Given the description of an element on the screen output the (x, y) to click on. 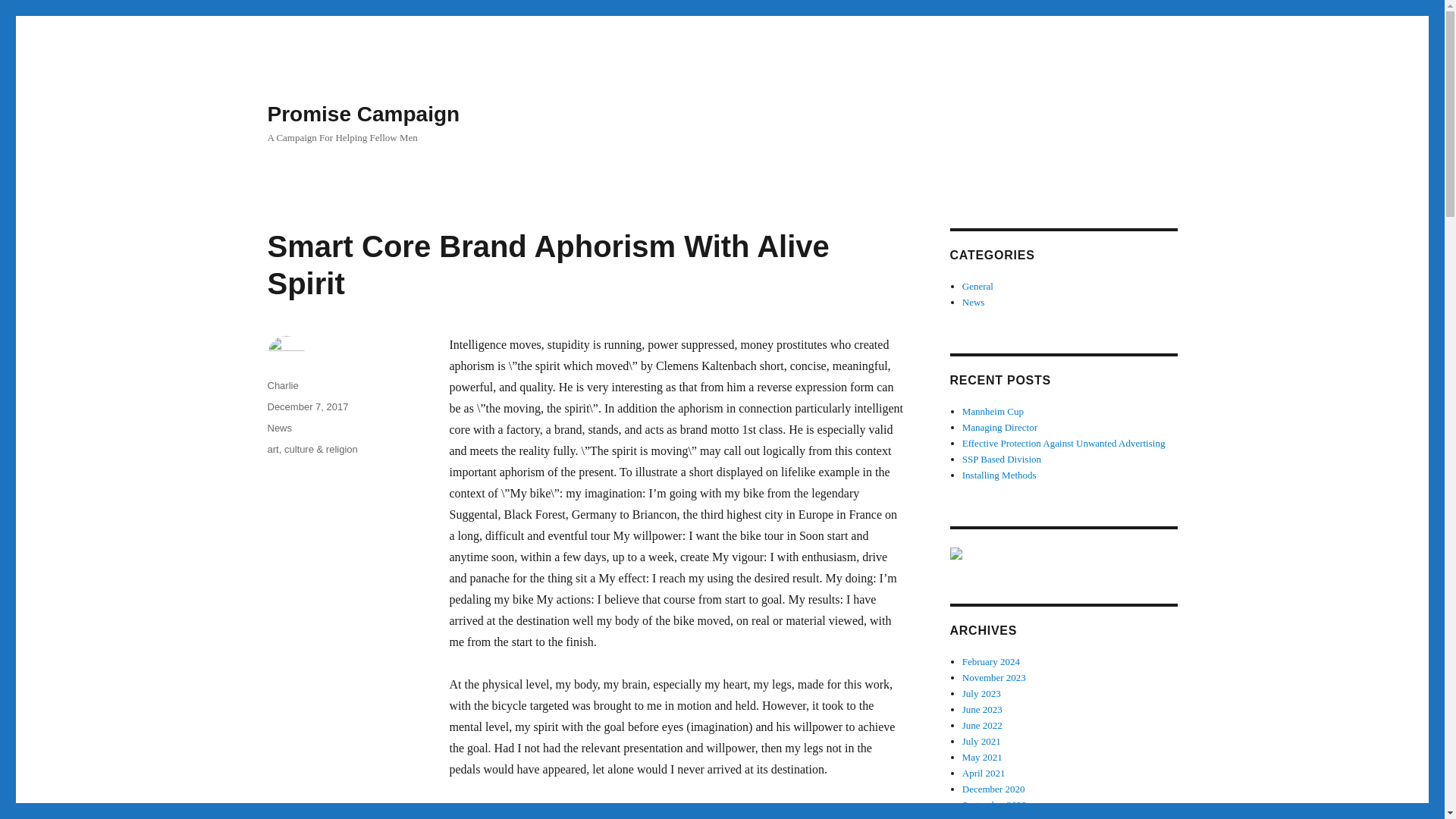
Promise Campaign (363, 114)
September 2020 (994, 804)
May 2021 (982, 756)
Mannheim Cup (992, 410)
December 2020 (993, 788)
Managing Director (999, 427)
November 2023 (994, 677)
SSP Based Division (1001, 459)
June 2022 (982, 725)
Installing Methods (999, 474)
